Given the description of an element on the screen output the (x, y) to click on. 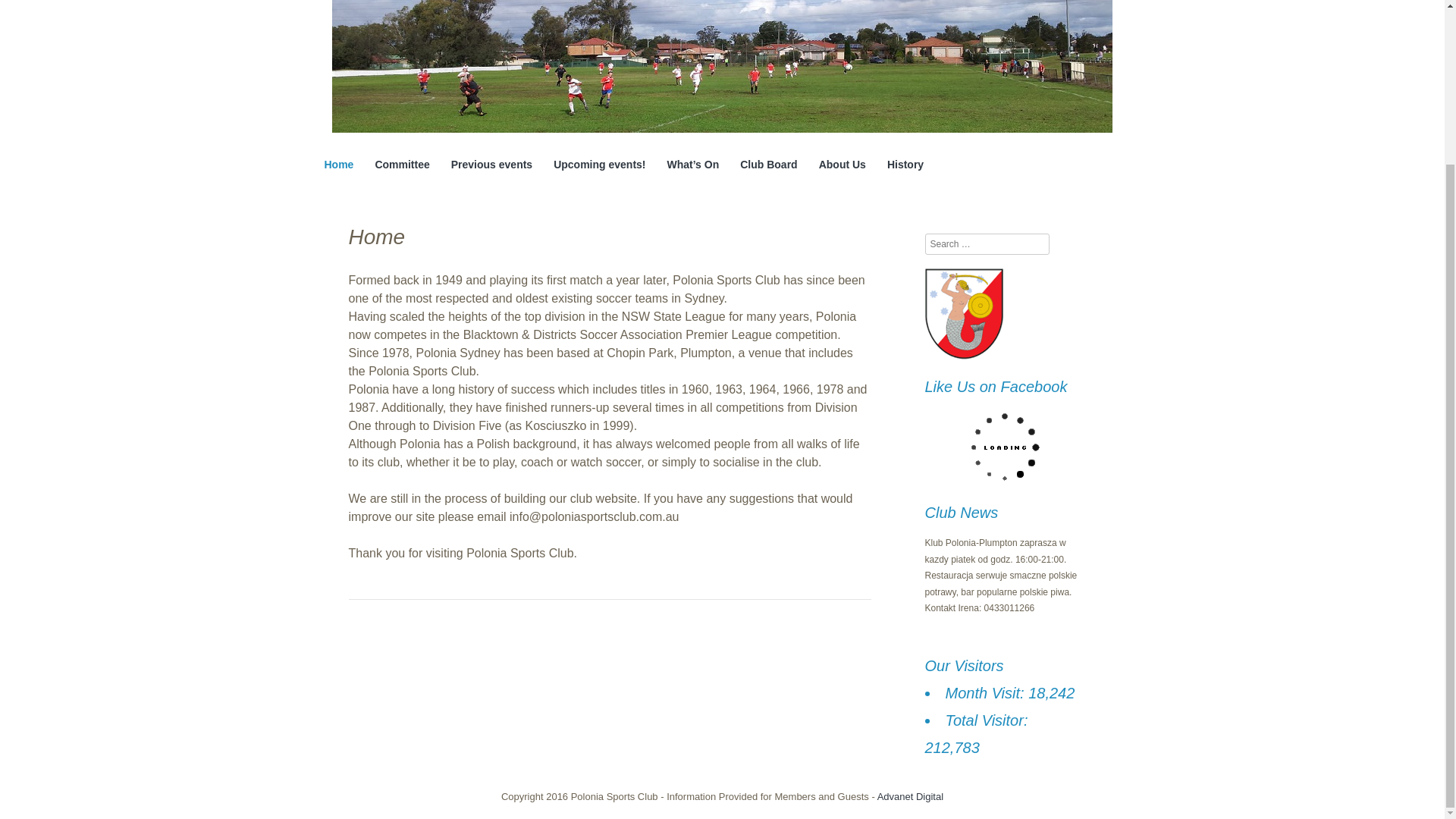
Home (338, 164)
History (904, 164)
About Us (842, 164)
Previous events (491, 164)
Upcoming events! (599, 164)
Club Board (767, 164)
Committee (401, 164)
